Given the description of an element on the screen output the (x, y) to click on. 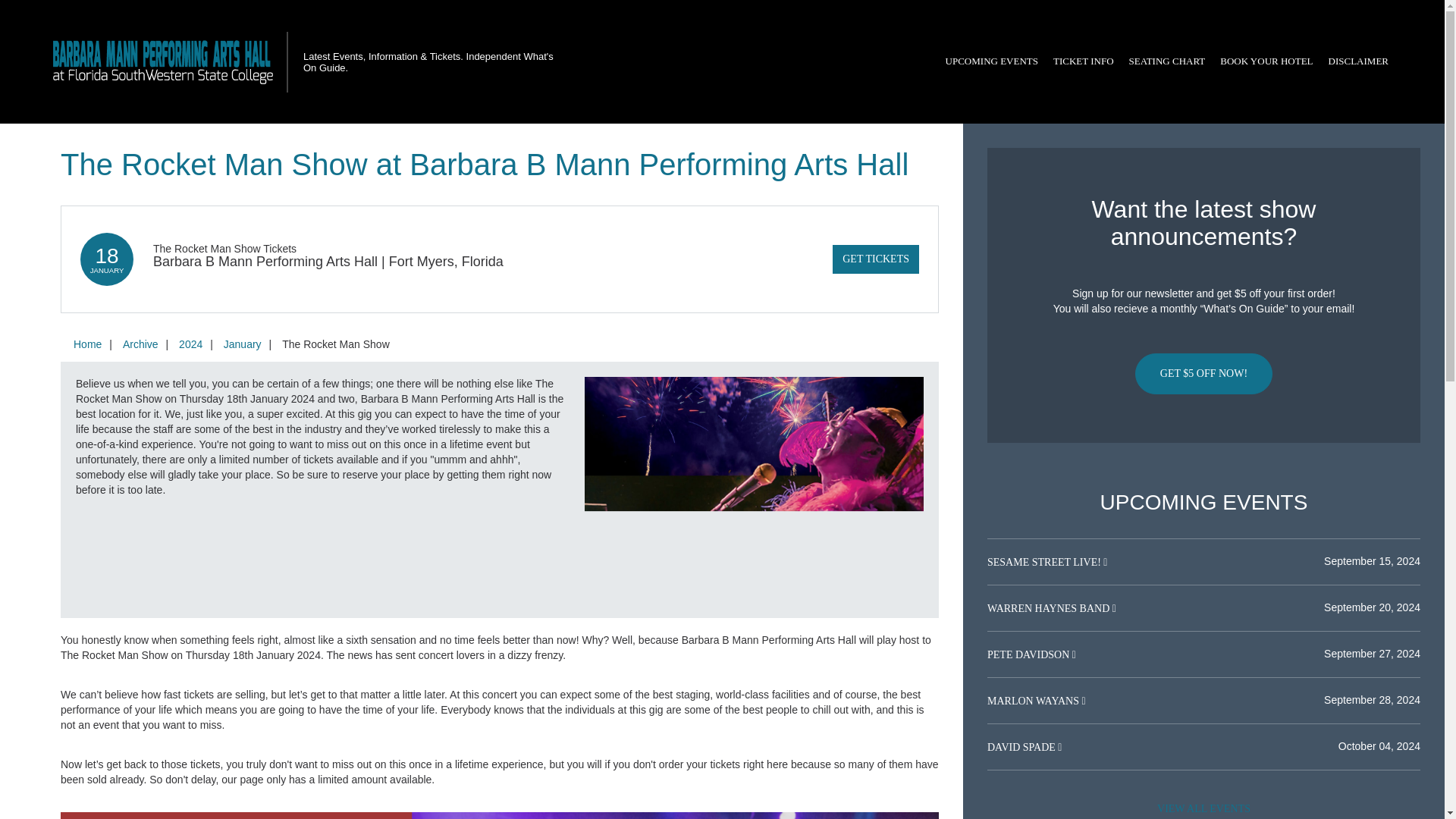
GET TICKETS (875, 258)
UPCOMING EVENTS (991, 61)
SEATING CHART (1166, 61)
TICKET INFO (1083, 61)
The Rocket Man Show Tickets (224, 248)
January (242, 344)
VIEW ALL EVENTS (1203, 806)
Archive (140, 344)
2024 (190, 344)
SESAME STREET LIVE! (1045, 562)
